Given the description of an element on the screen output the (x, y) to click on. 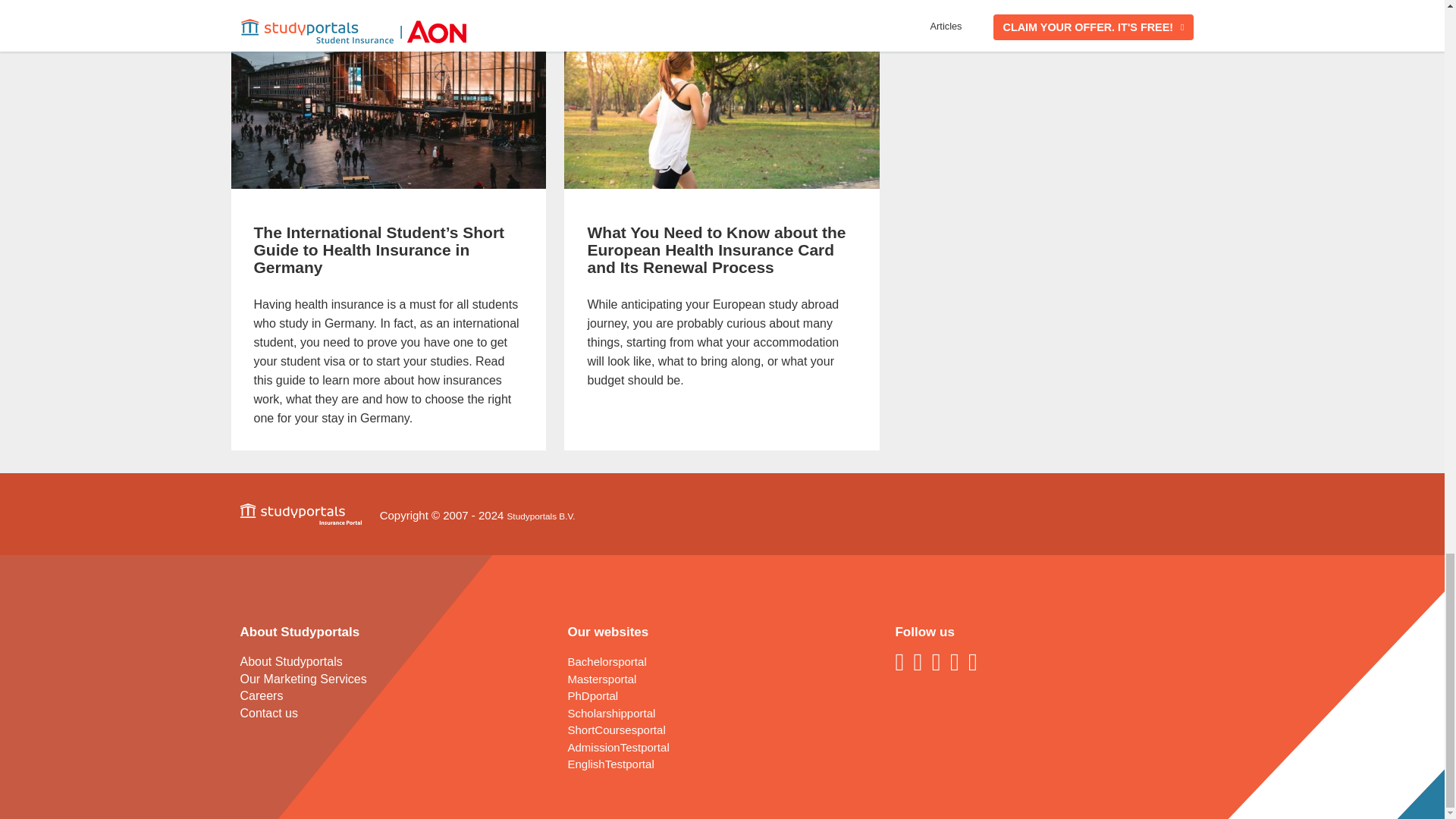
PhDportal.com (592, 695)
About Studyportals (291, 661)
Contact us (268, 712)
Like us on Facebook (902, 661)
Mastersportal (601, 678)
Connect to us on LinkedIn (921, 661)
Careers (261, 695)
ShortCoursesportal.com (616, 729)
